Given the description of an element on the screen output the (x, y) to click on. 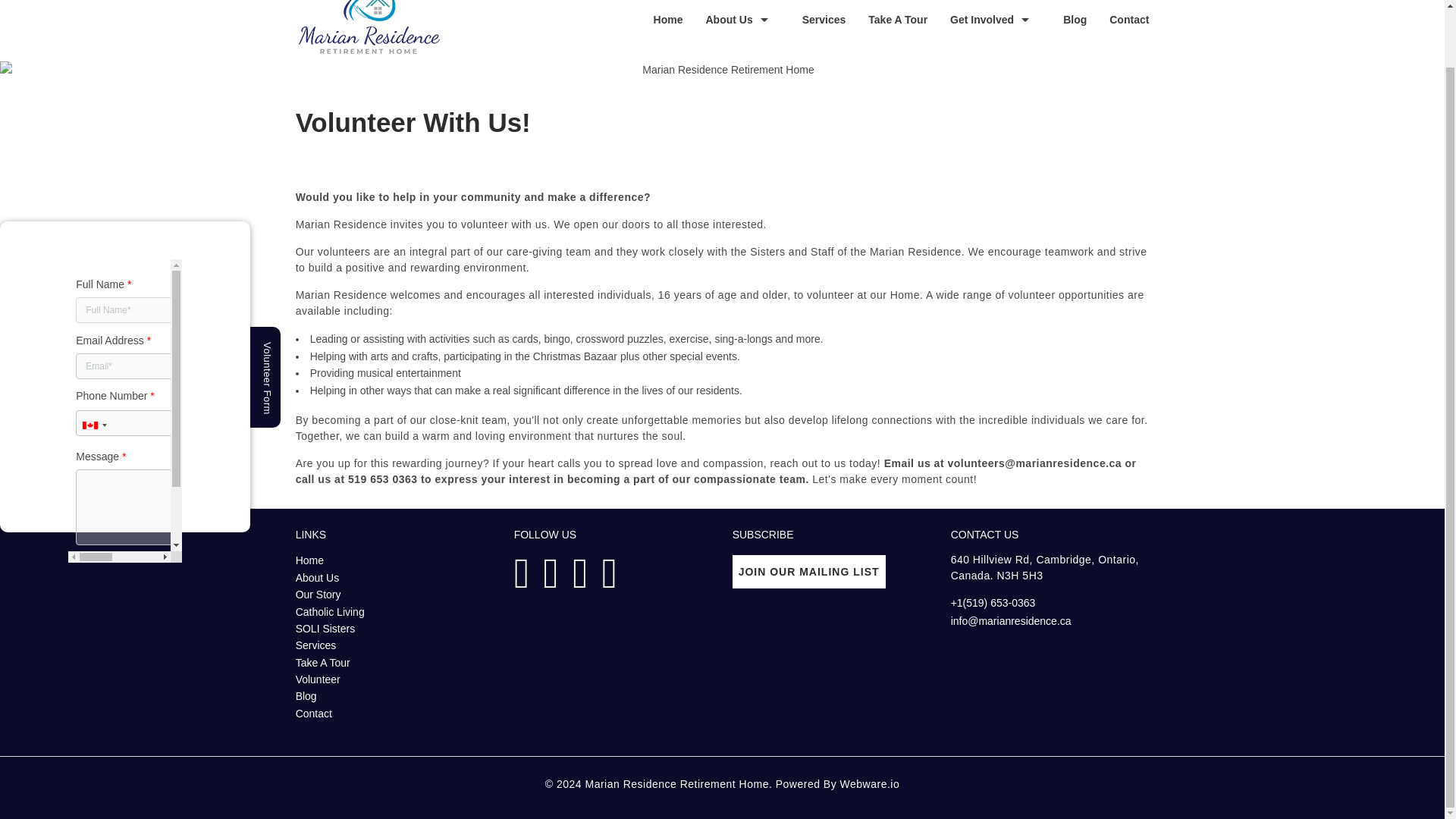
Services (811, 19)
About Us (317, 577)
Our Story (317, 594)
Home (656, 19)
Catholic Living (330, 612)
Submit (117, 522)
Take A Tour (322, 662)
Blog (306, 695)
Contact (1117, 19)
Services (315, 645)
